Given the description of an element on the screen output the (x, y) to click on. 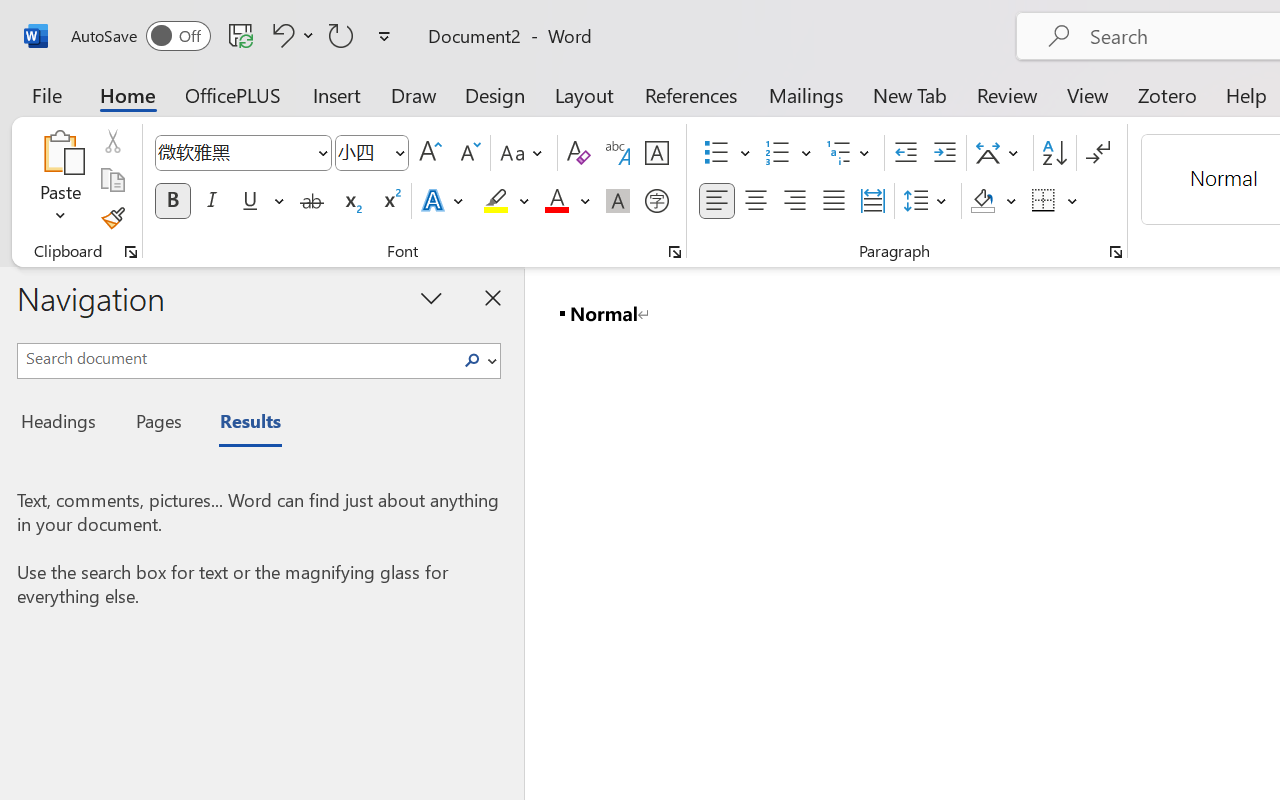
Headings (64, 424)
View (1087, 94)
Grow Font (430, 153)
Design (495, 94)
Italic (212, 201)
Sort... (1054, 153)
Cut (112, 141)
Show/Hide Editing Marks (1098, 153)
Mailings (806, 94)
Font Size (372, 153)
Review (1007, 94)
Shading (993, 201)
File Tab (46, 94)
Search document (236, 358)
Office Clipboard... (131, 252)
